Given the description of an element on the screen output the (x, y) to click on. 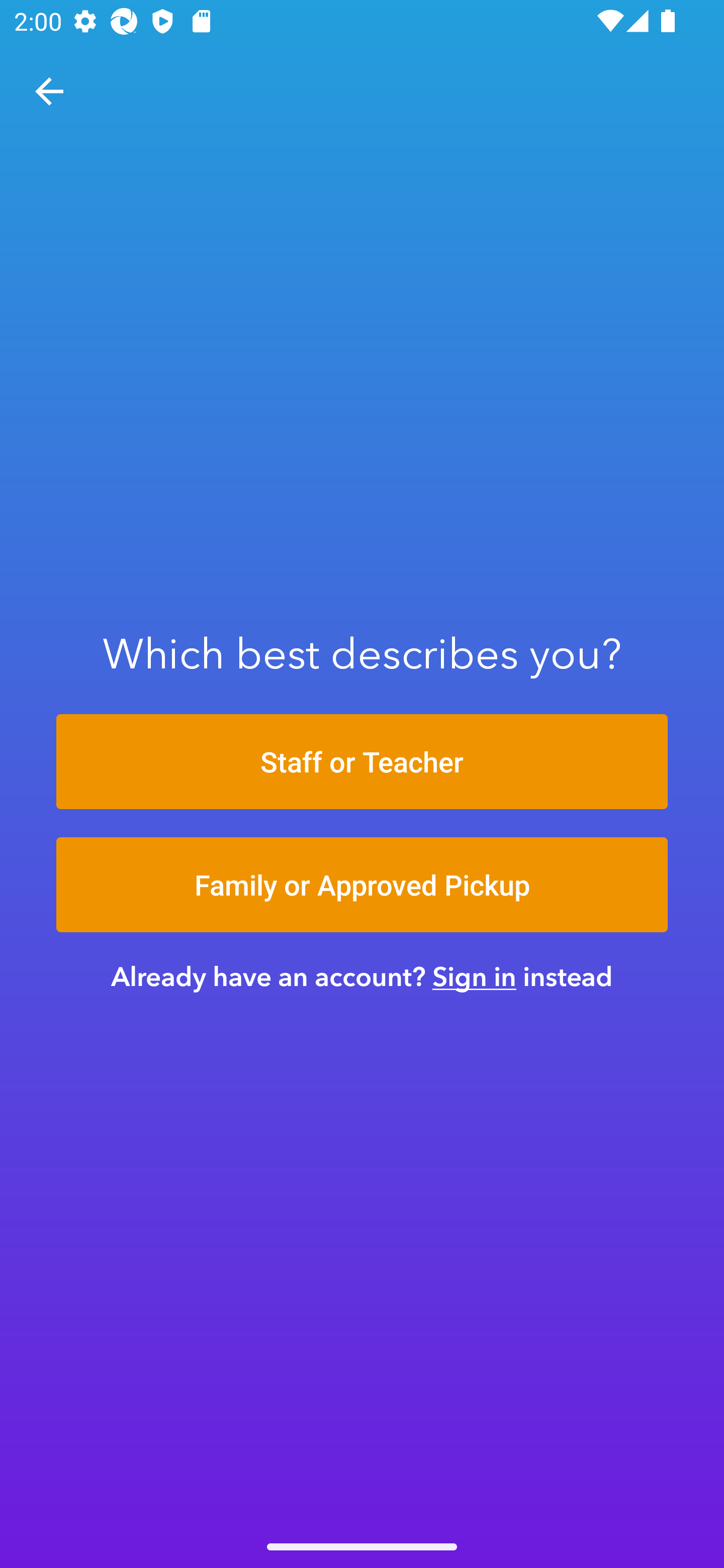
Navigate up (49, 91)
Staff or Teacher (361, 761)
Family or Approved Pickup (361, 884)
Already have an account? Sign in instead (361, 975)
